Given the description of an element on the screen output the (x, y) to click on. 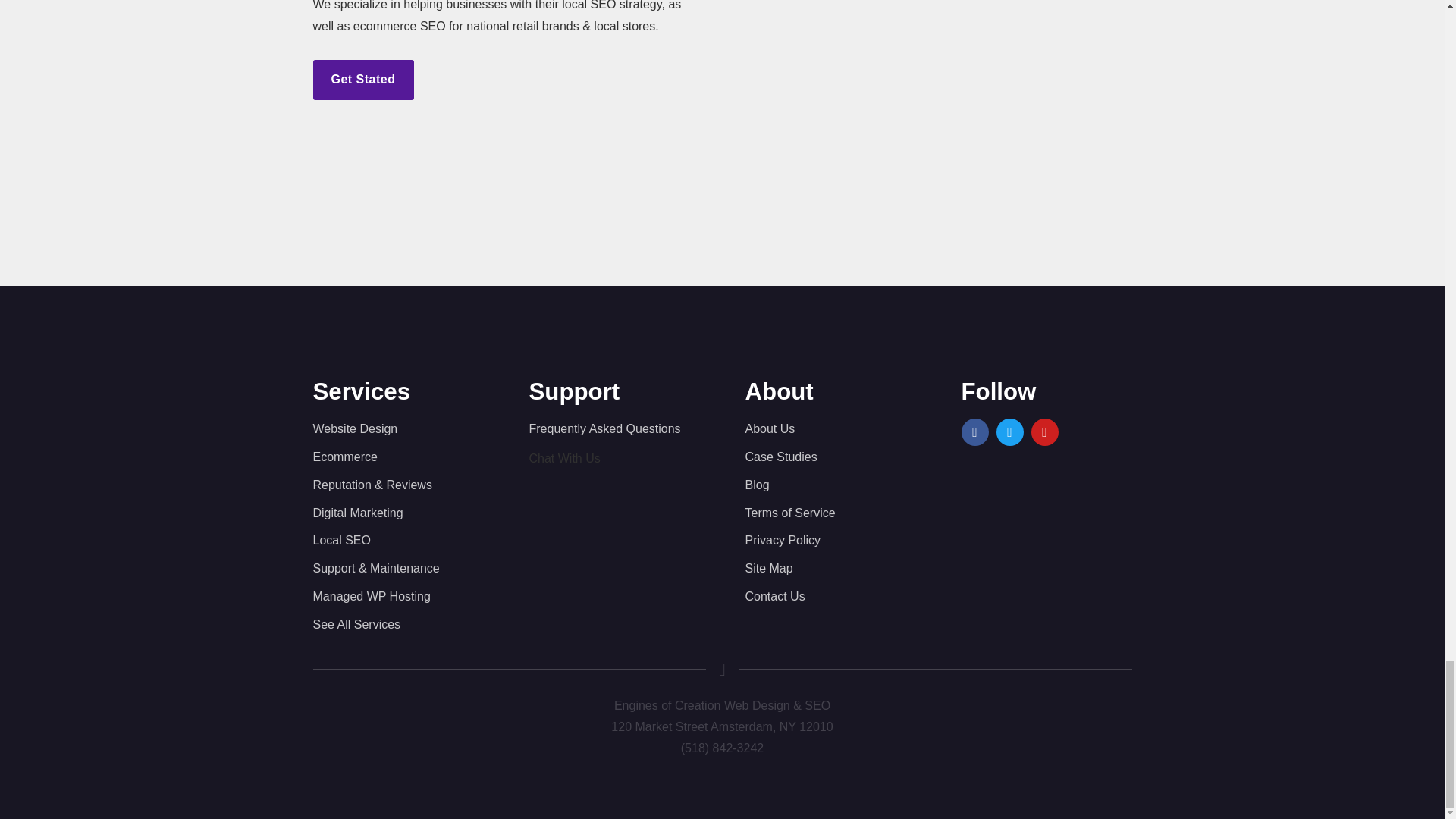
Blog (829, 485)
Case Studies (829, 457)
Contact Us (829, 597)
See All Services (398, 625)
Privacy Policy (829, 540)
Ecommerce (398, 457)
Chat With Us (564, 458)
Managed WP Hosting (398, 597)
Get Stated (363, 79)
Frequently Asked Questions (614, 429)
